Given the description of an element on the screen output the (x, y) to click on. 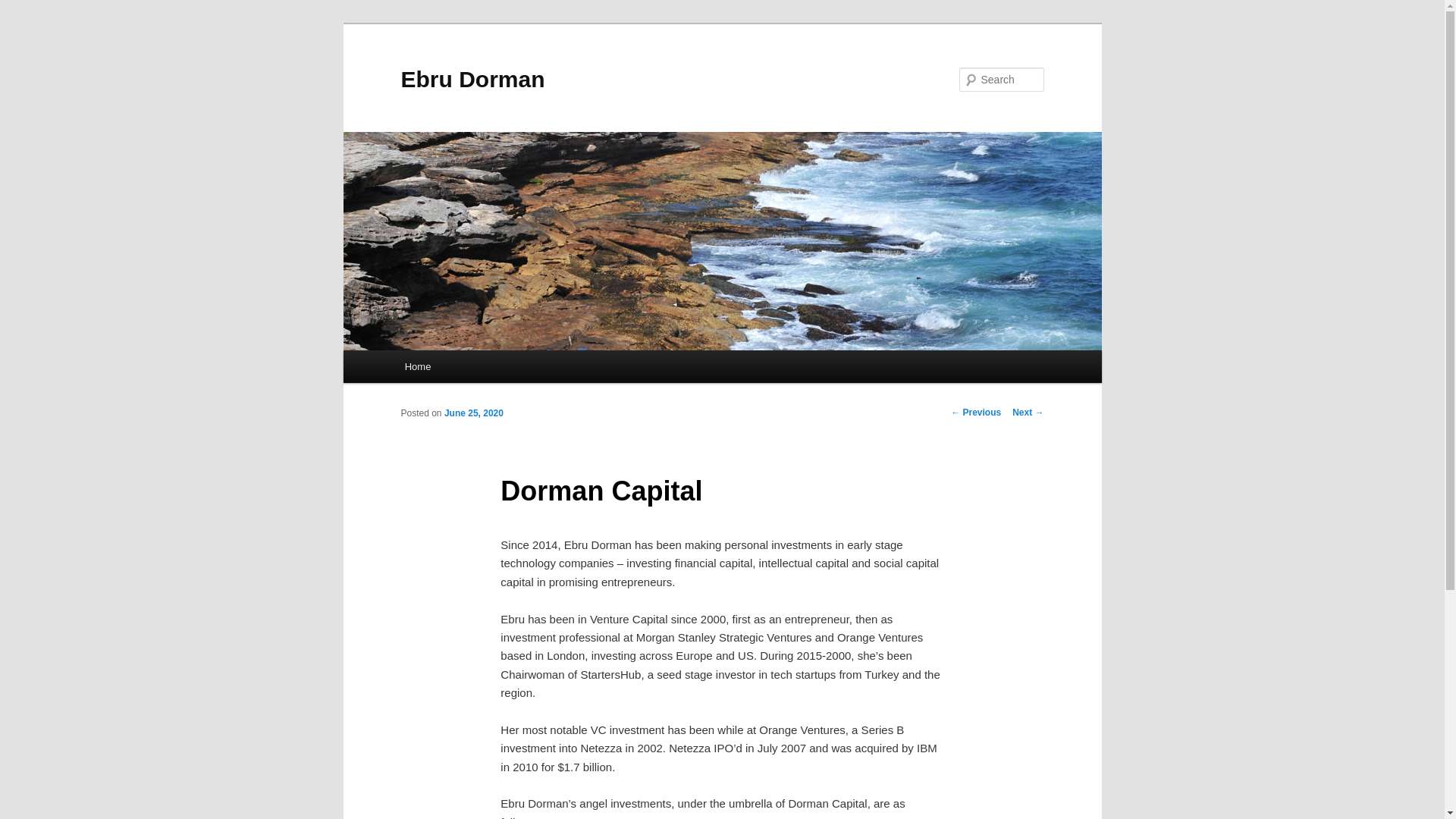
Home (417, 366)
1:03 pm (473, 412)
June 25, 2020 (473, 412)
Ebru Dorman (472, 78)
Search (24, 8)
